Given the description of an element on the screen output the (x, y) to click on. 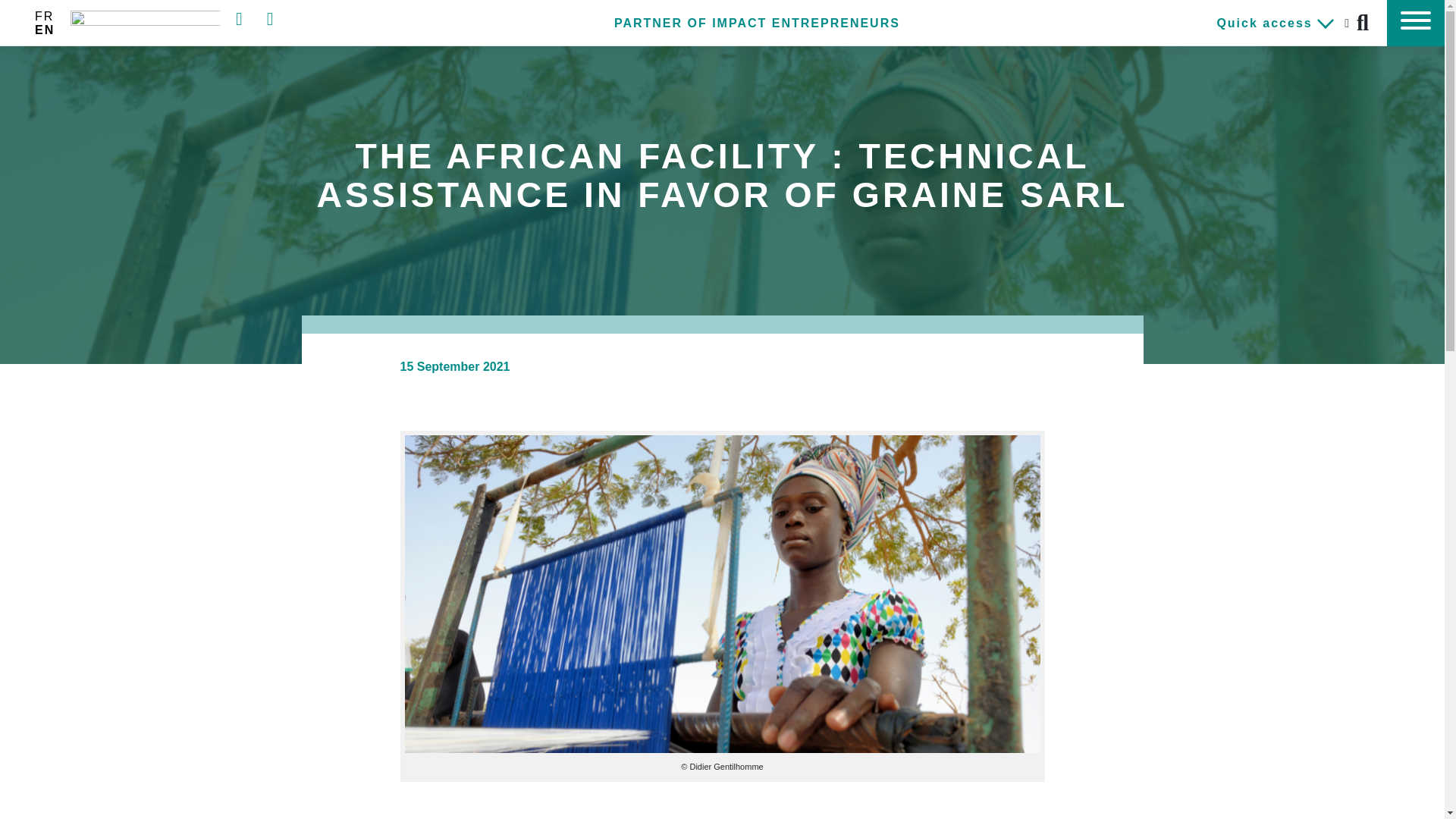
EN (44, 29)
PARTNER OF IMPACT ENTREPRENEURS (756, 22)
FR (43, 15)
